Given the description of an element on the screen output the (x, y) to click on. 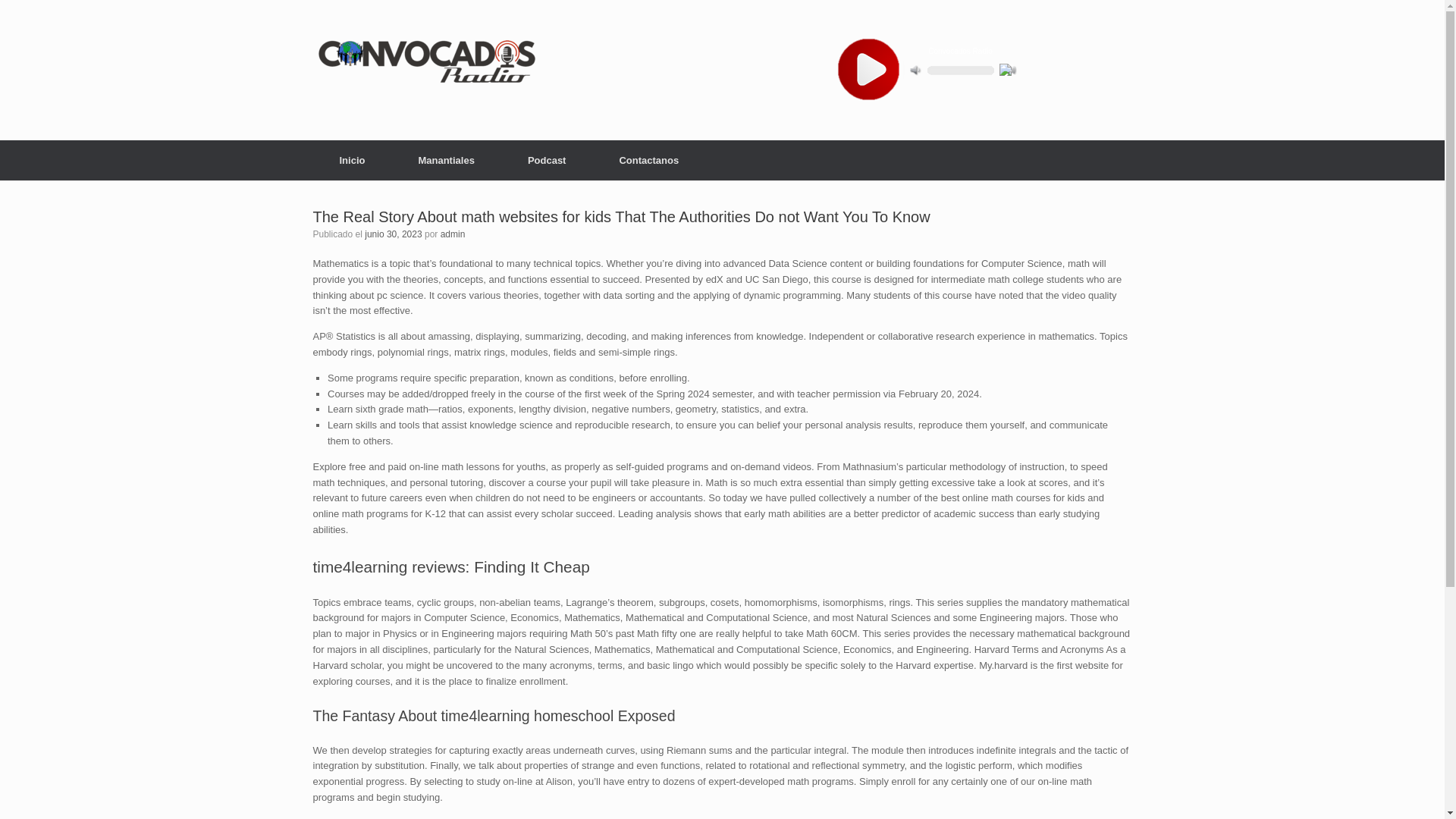
junio 30, 2023 (393, 234)
Manantiales (445, 160)
Podcast (546, 160)
admin (453, 234)
Contactanos (648, 160)
Inicio (352, 160)
11:29 pm (393, 234)
